Given the description of an element on the screen output the (x, y) to click on. 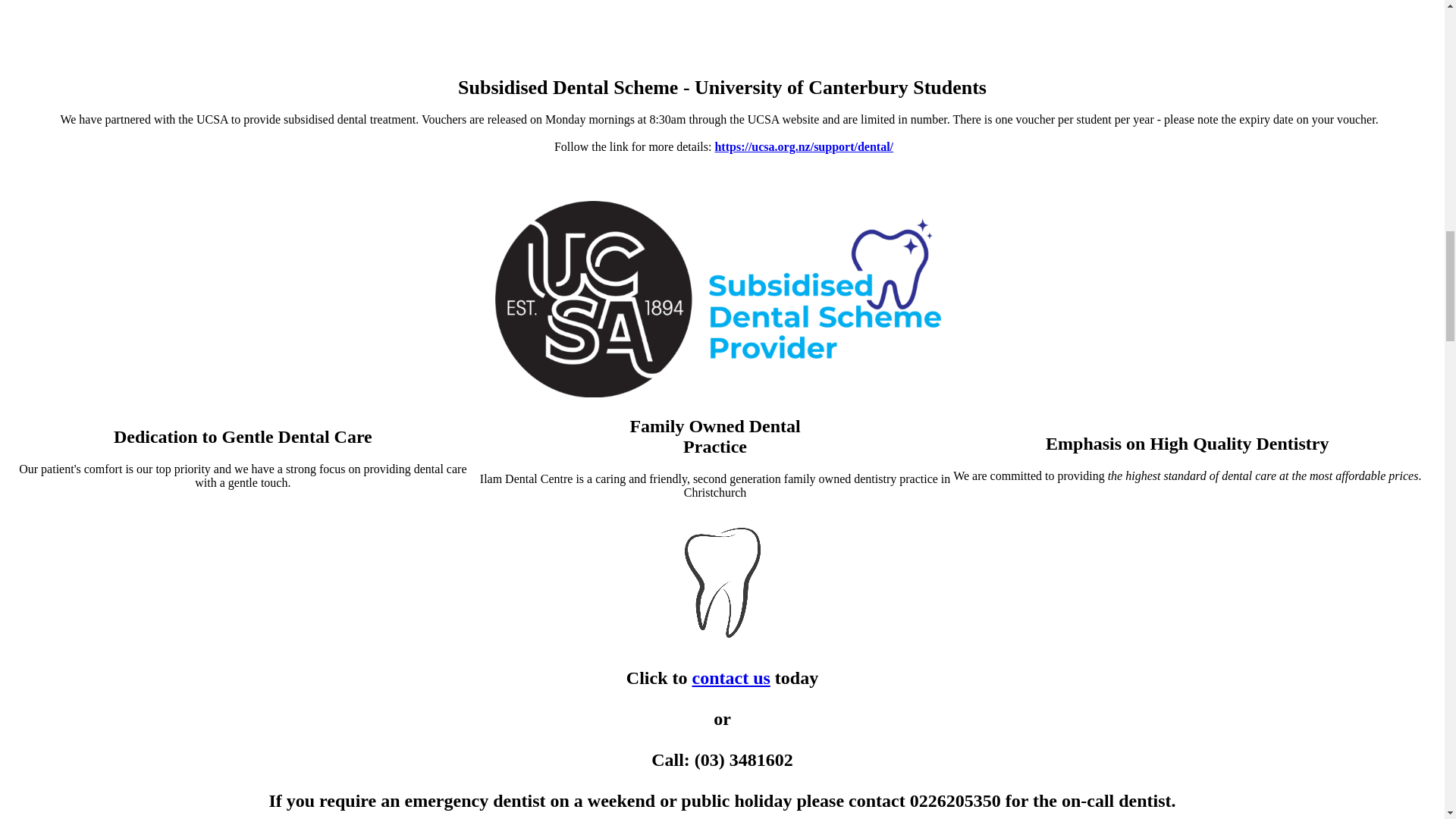
contact us (730, 677)
Subsidised Dental Scheme Provider-651-234-124 (722, 298)
